Given the description of an element on the screen output the (x, y) to click on. 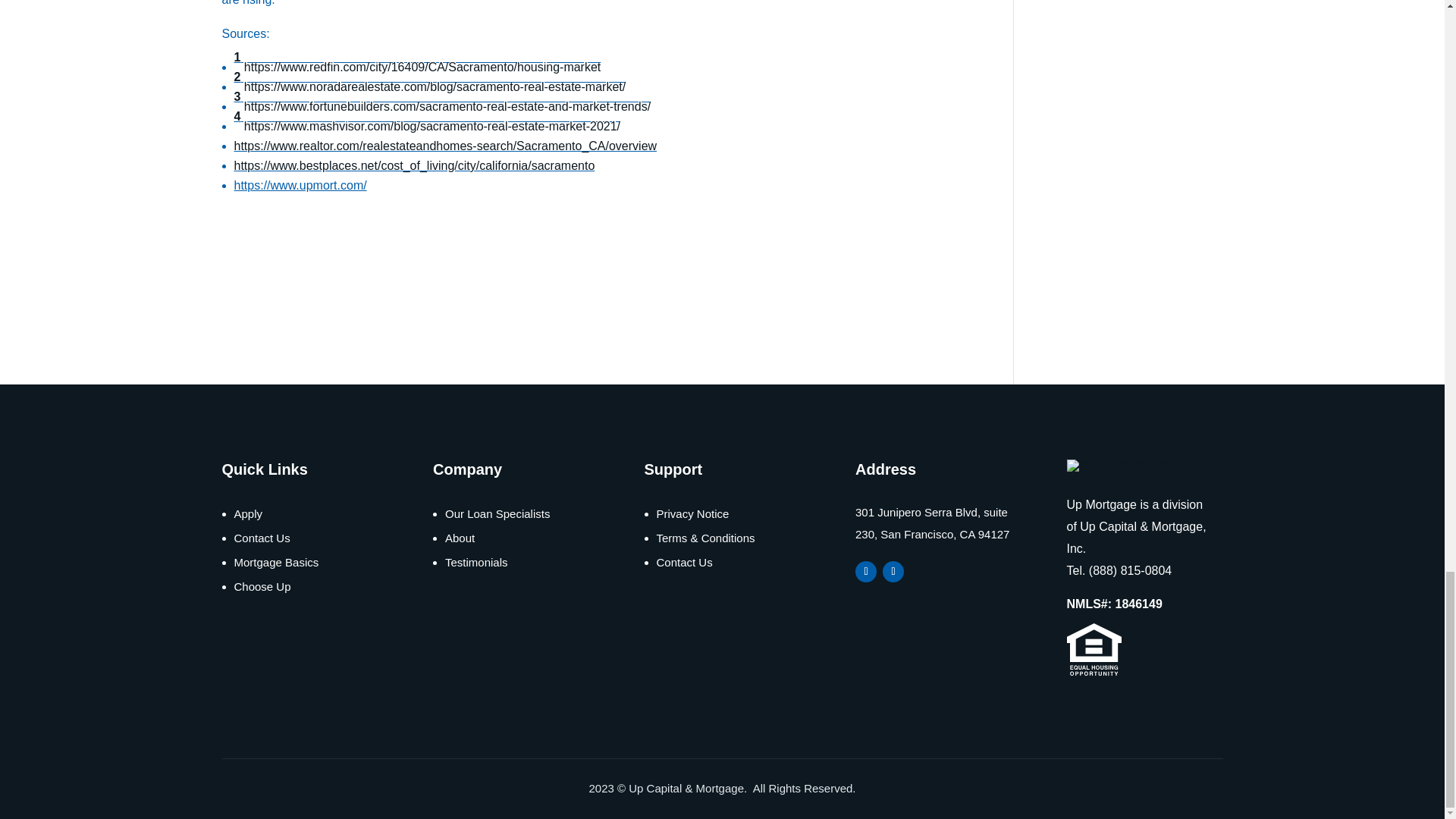
Follow on LinkedIn (893, 571)
Up Mortgage Logo (1122, 465)
Follow on Facebook (866, 571)
